Given the description of an element on the screen output the (x, y) to click on. 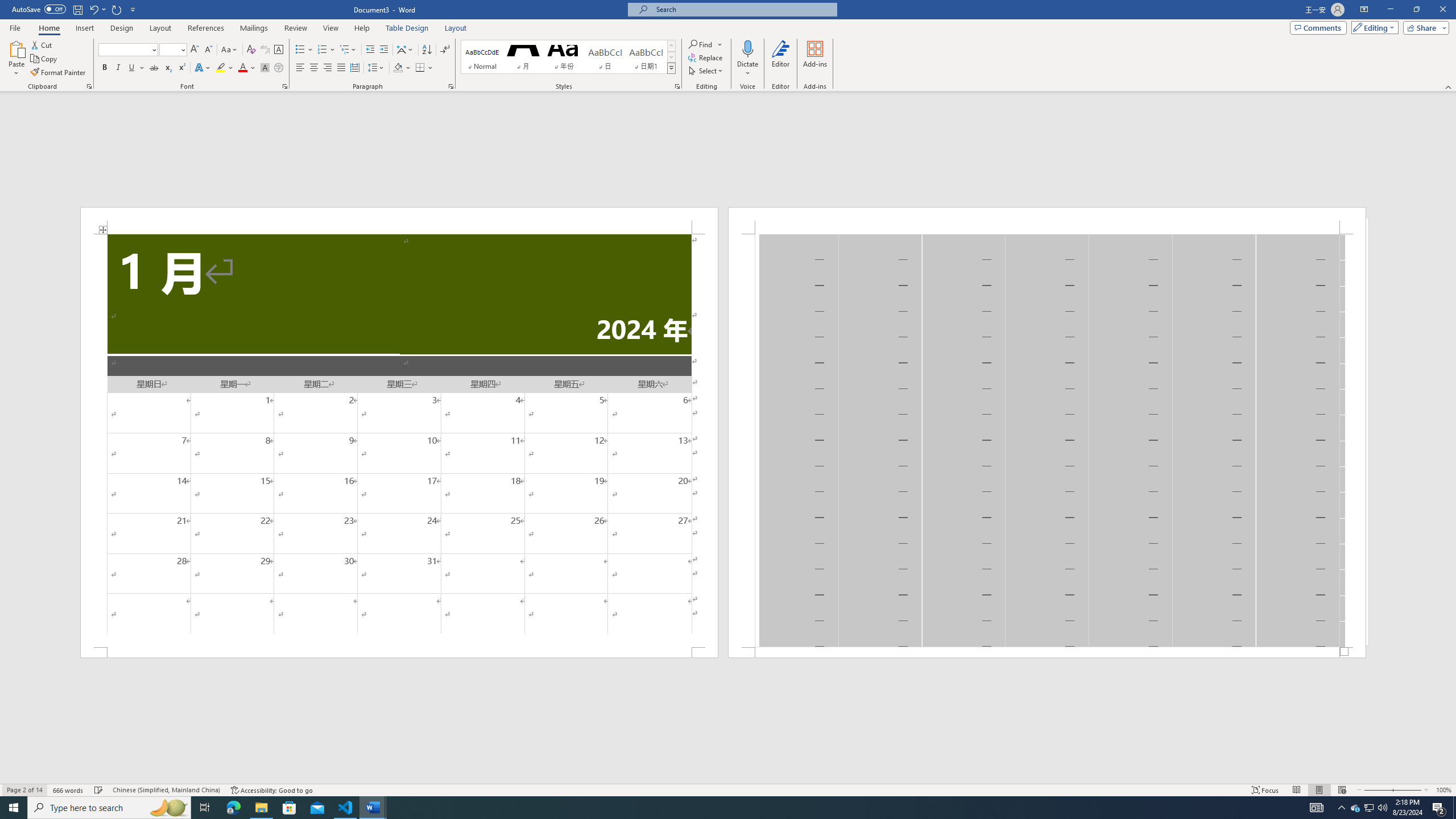
Word Count 666 words (68, 790)
Microsoft search (742, 9)
Repeat Doc Close (117, 9)
Decrease Indent (370, 49)
Mode (1372, 27)
Shading (402, 67)
